Given the description of an element on the screen output the (x, y) to click on. 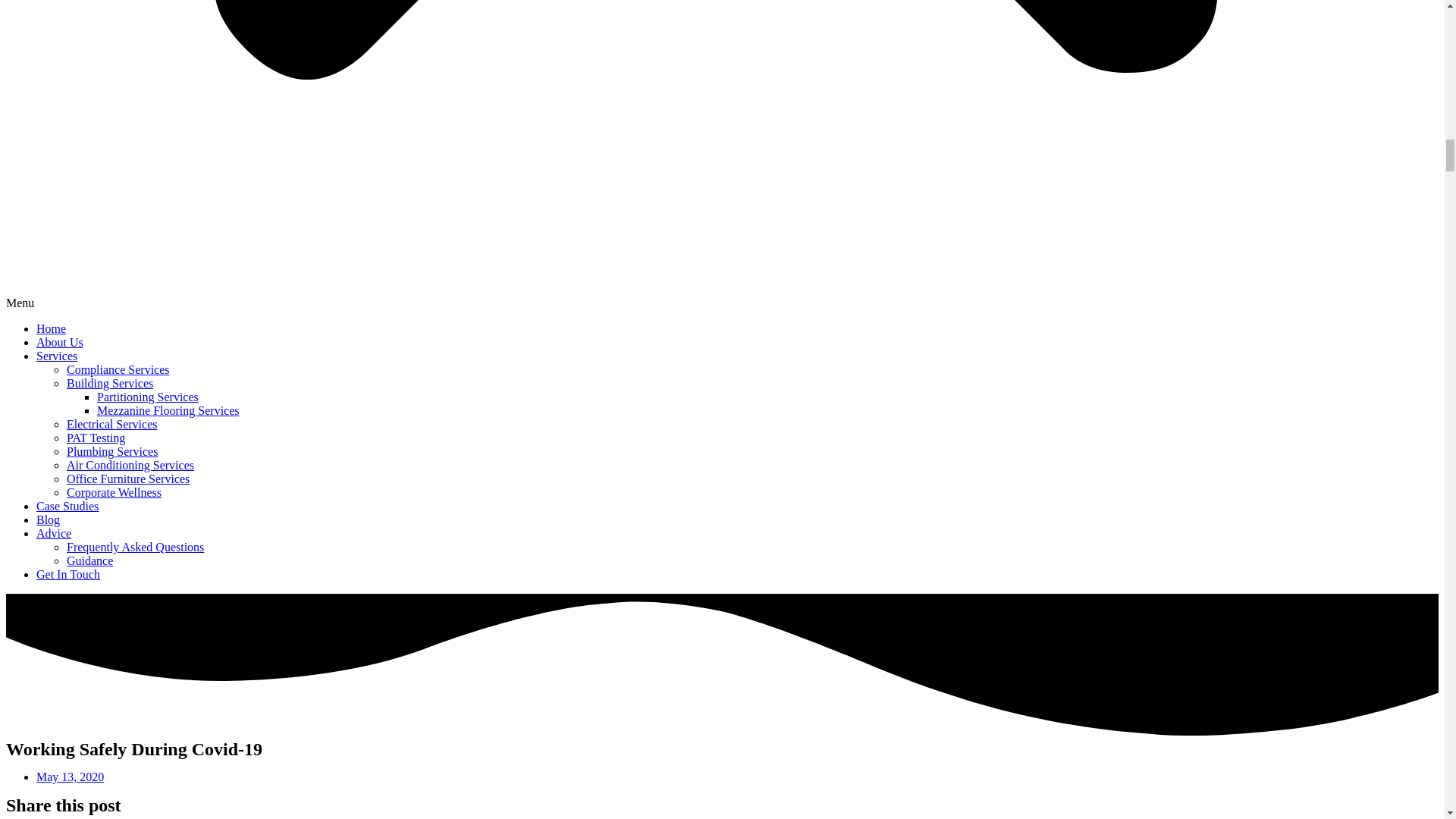
Plumbing Services (111, 451)
Case Studies (67, 505)
Blog (47, 519)
PAT Testing (95, 437)
Electrical Services (111, 423)
Mezzanine Flooring Services (168, 410)
Partitioning Services (147, 396)
Compliance Services (118, 369)
Services (56, 355)
About Us (59, 341)
Home (50, 328)
Office Furniture Services (127, 478)
Air Conditioning Services (129, 464)
Corporate Wellness (113, 492)
Building Services (109, 382)
